Given the description of an element on the screen output the (x, y) to click on. 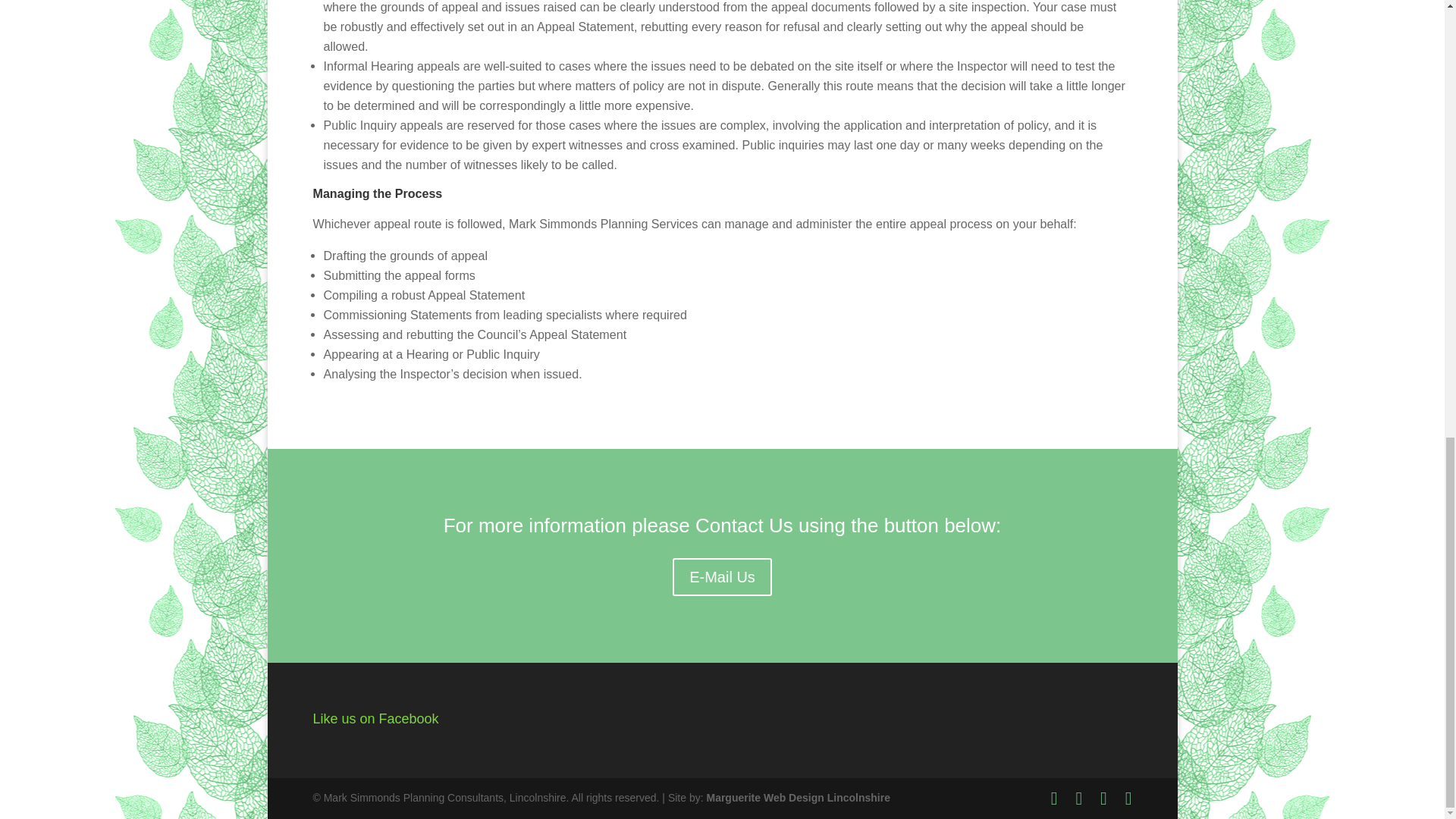
E-Mail Us (721, 576)
